Given the description of an element on the screen output the (x, y) to click on. 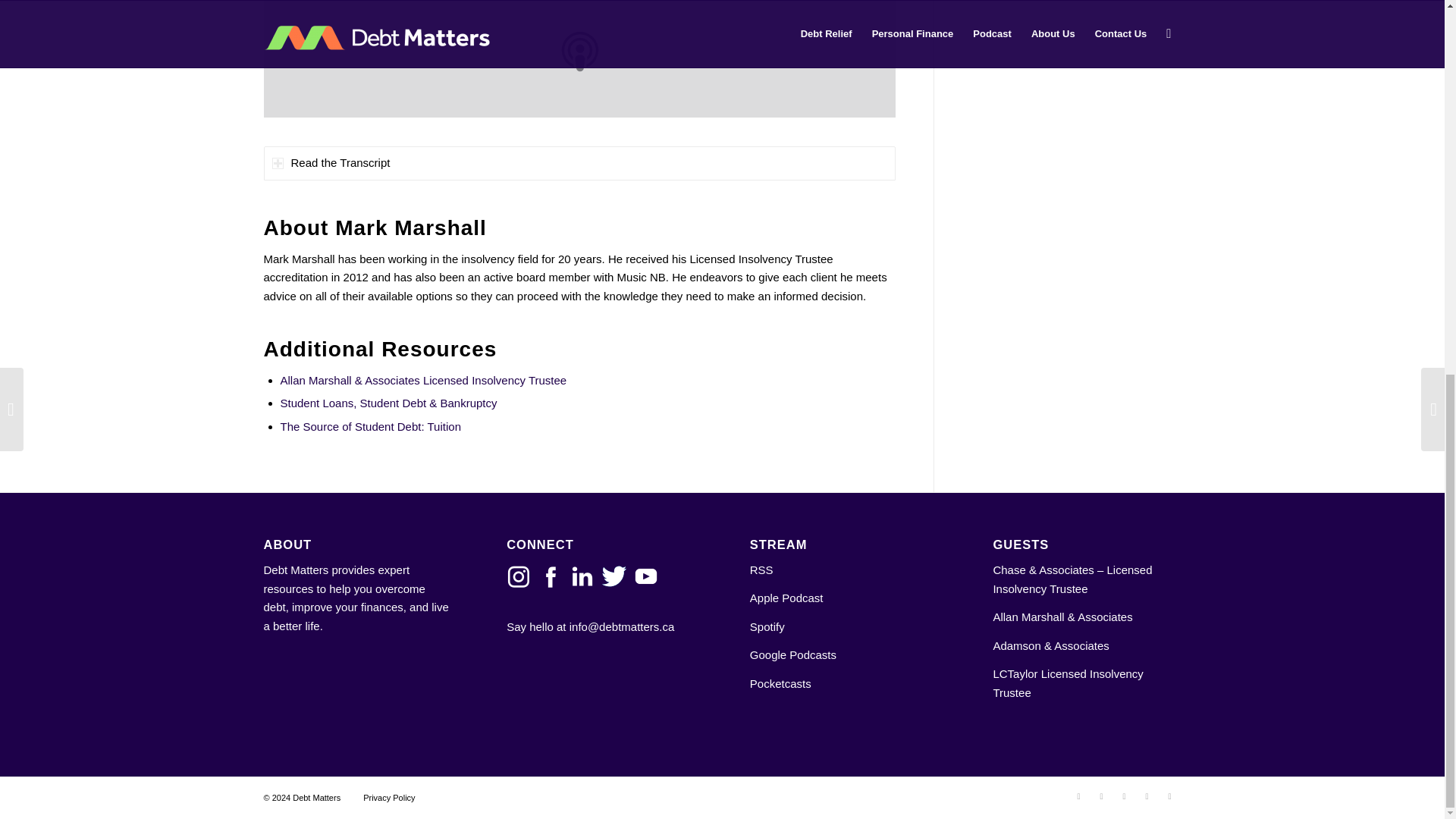
Google Podcasts (792, 654)
Youtube (1169, 795)
Instagram (1146, 795)
LinkedIn (1124, 795)
Apple Podcast (786, 597)
The Source of Student Debt: Tuition (371, 426)
Privacy Policy (388, 797)
LCTaylor Licensed Insolvency Trustee (1067, 683)
Spotify (766, 626)
RSS (761, 569)
Twitter (1078, 795)
Facebook (1101, 795)
Pocketcasts (779, 683)
